Given the description of an element on the screen output the (x, y) to click on. 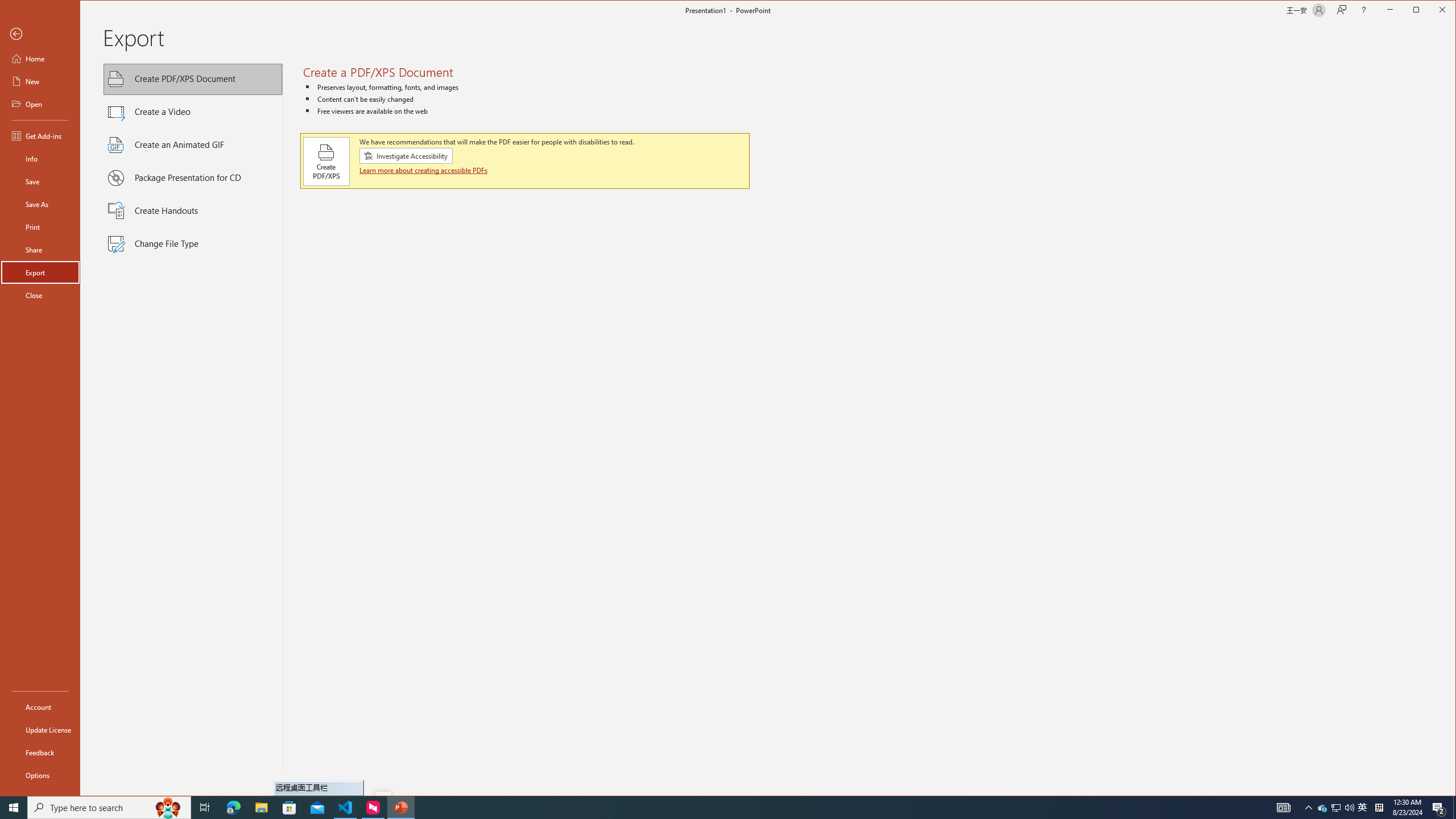
Tray Input Indicator - Chinese (Simplified, China) (1378, 807)
Visual Studio Code - 1 running window (345, 807)
AutomationID: 4105 (1335, 807)
Account (1283, 807)
Publishing Features (1362, 807)
Save As (40, 706)
Show desktop (193, 422)
Feedback (40, 203)
